Given the description of an element on the screen output the (x, y) to click on. 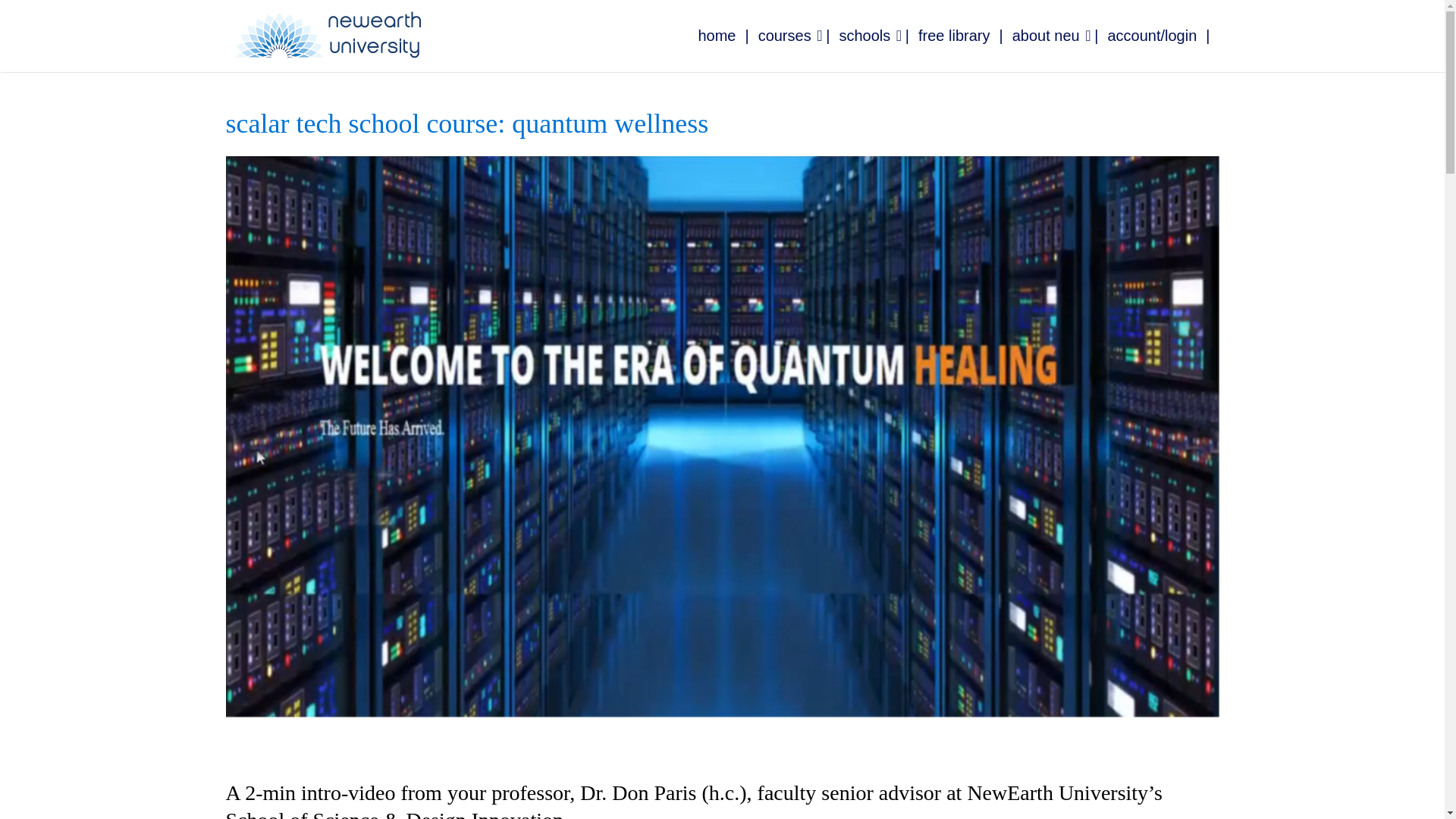
schools (878, 36)
courses (799, 36)
NewEarth University (327, 35)
Courses (799, 36)
free library (964, 36)
about neu (1059, 36)
